Given the description of an element on the screen output the (x, y) to click on. 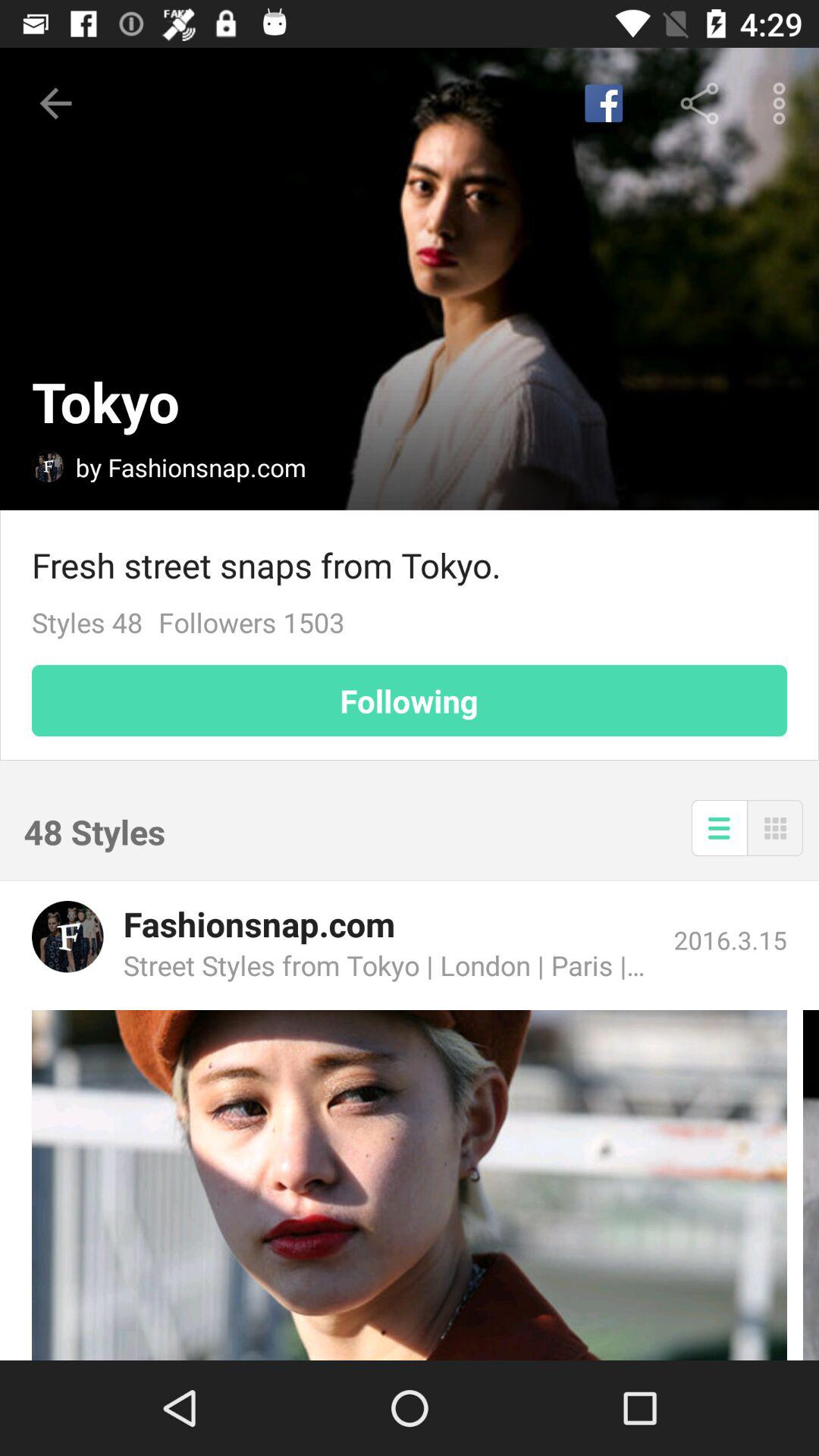
fashionsnap.com (67, 936)
